Given the description of an element on the screen output the (x, y) to click on. 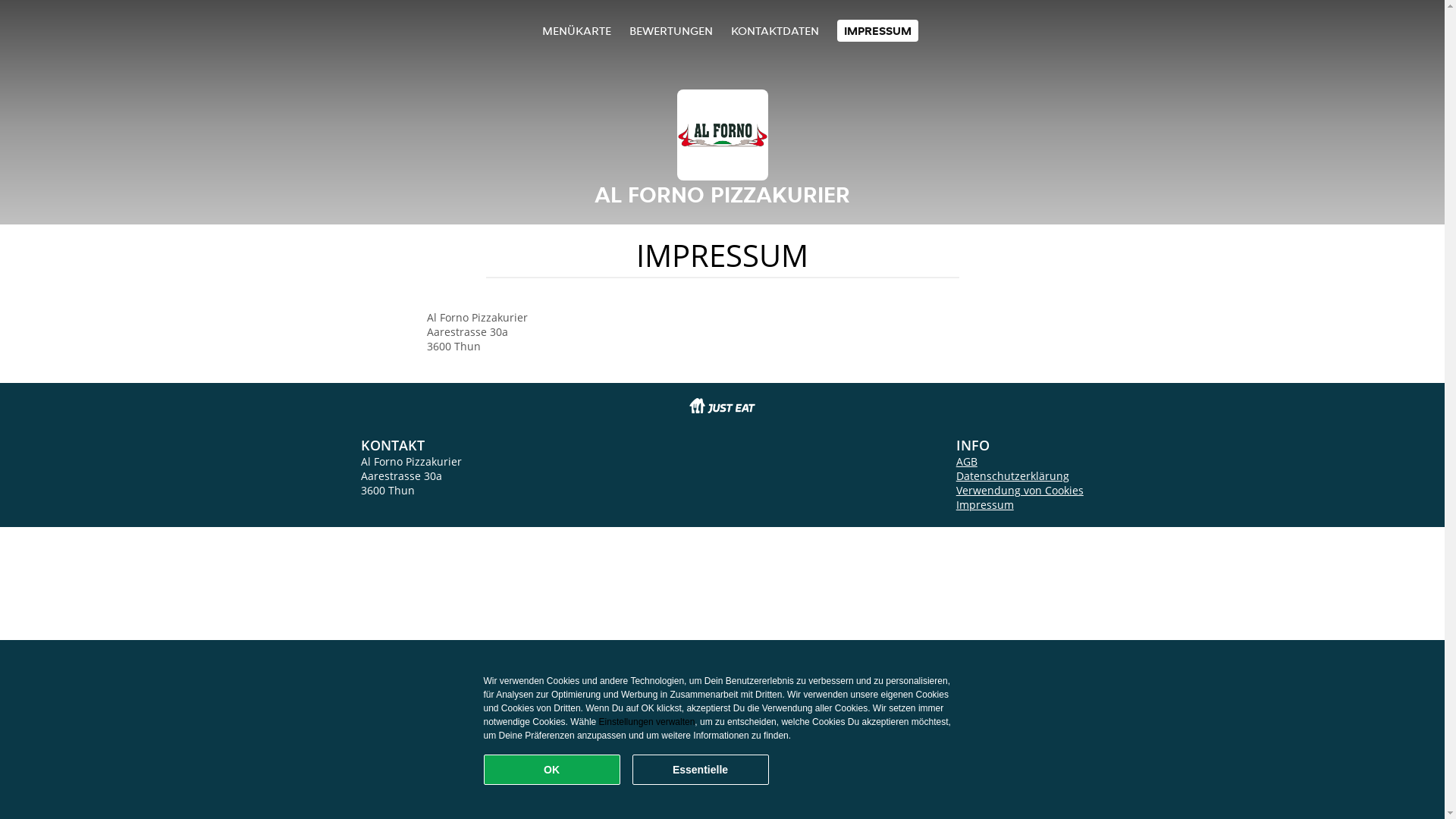
IMPRESSUM Element type: text (877, 30)
Einstellungen verwalten Element type: text (647, 721)
Verwendung von Cookies Element type: text (1019, 490)
BEWERTUNGEN Element type: text (670, 30)
AGB Element type: text (966, 461)
Essentielle Element type: text (700, 769)
Impressum Element type: text (984, 504)
OK Element type: text (551, 769)
KONTAKTDATEN Element type: text (775, 30)
